Given the description of an element on the screen output the (x, y) to click on. 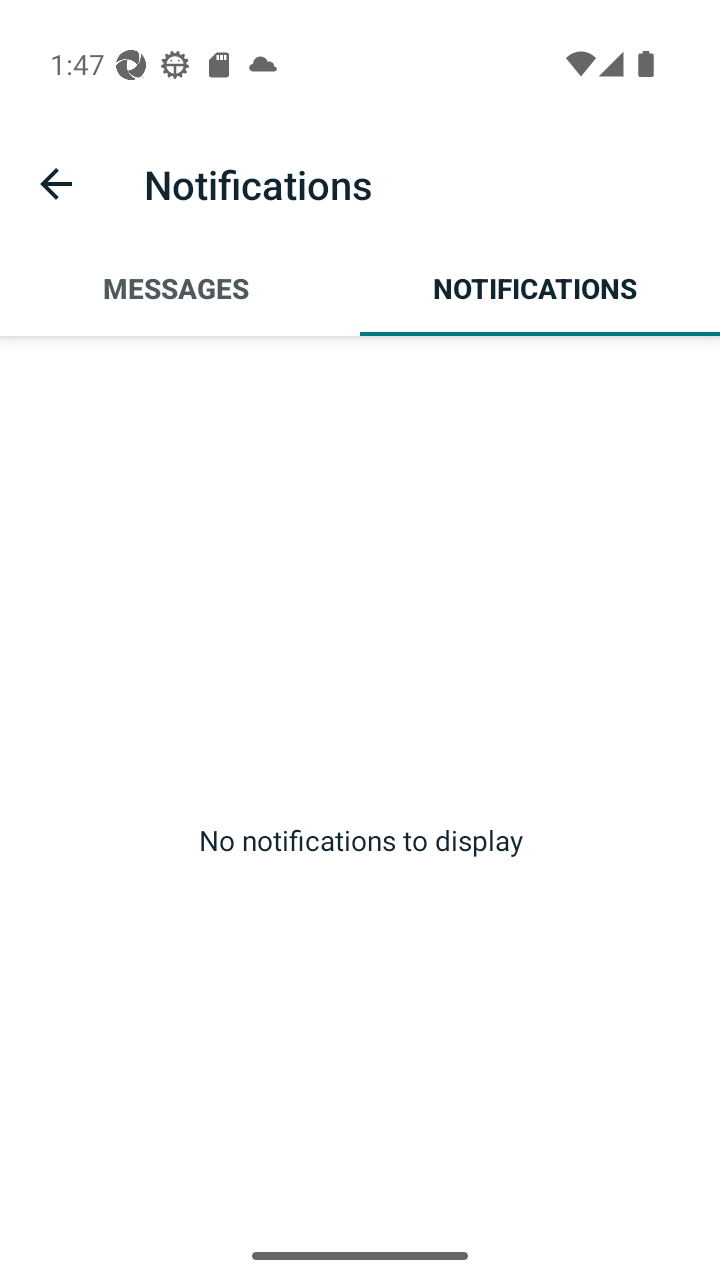
Messages MESSAGES (180, 287)
